Given the description of an element on the screen output the (x, y) to click on. 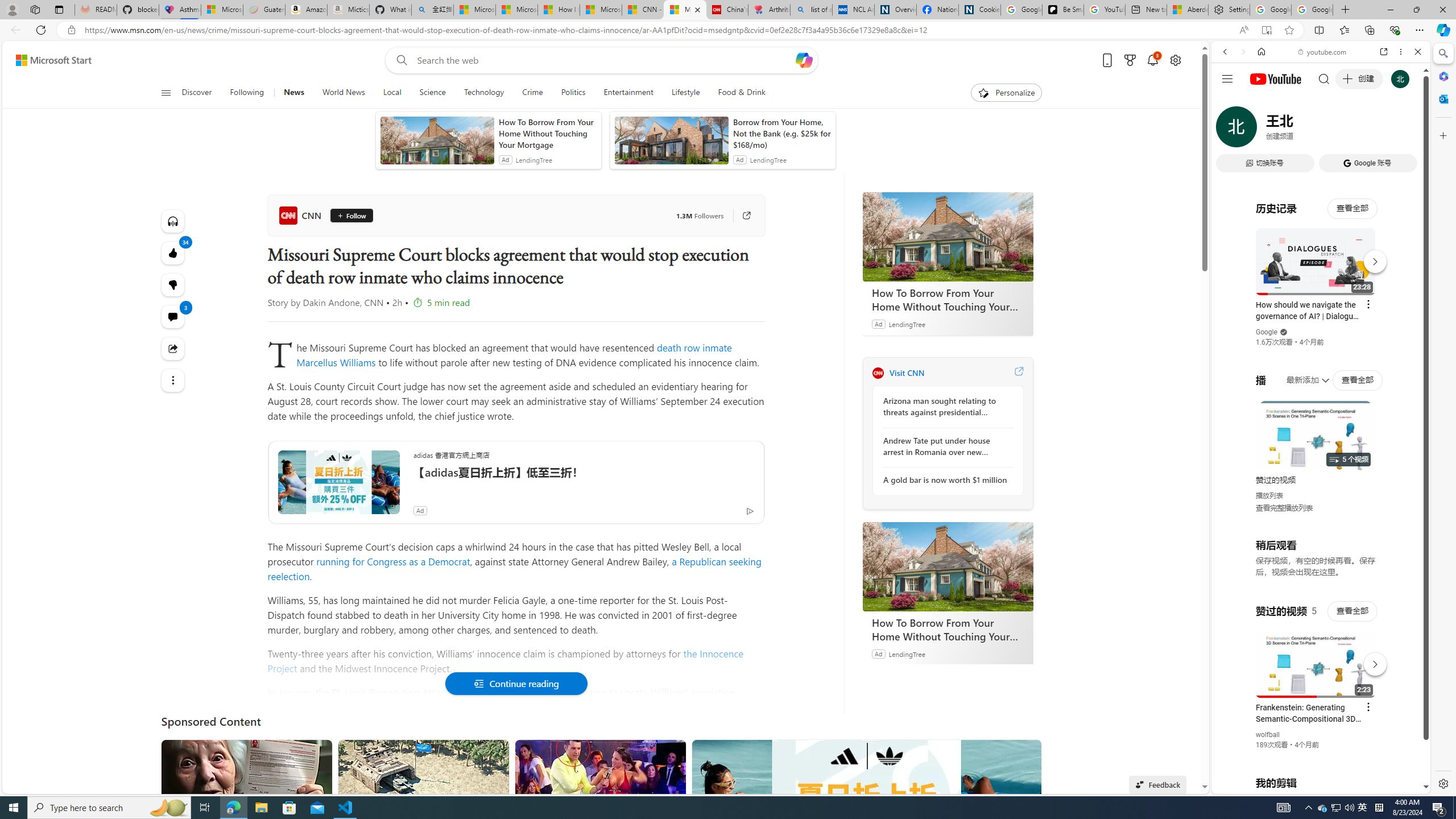
LendingTree (907, 653)
Web scope (1230, 102)
YouTube - YouTube (1315, 560)
the Innocence Project (505, 660)
Microsoft Start (53, 60)
Address and search bar (658, 29)
death row inmate Marcellus Williams (514, 354)
Technology (483, 92)
34 Like (172, 252)
Technology (483, 92)
Microsoft Start (600, 9)
